Given the description of an element on the screen output the (x, y) to click on. 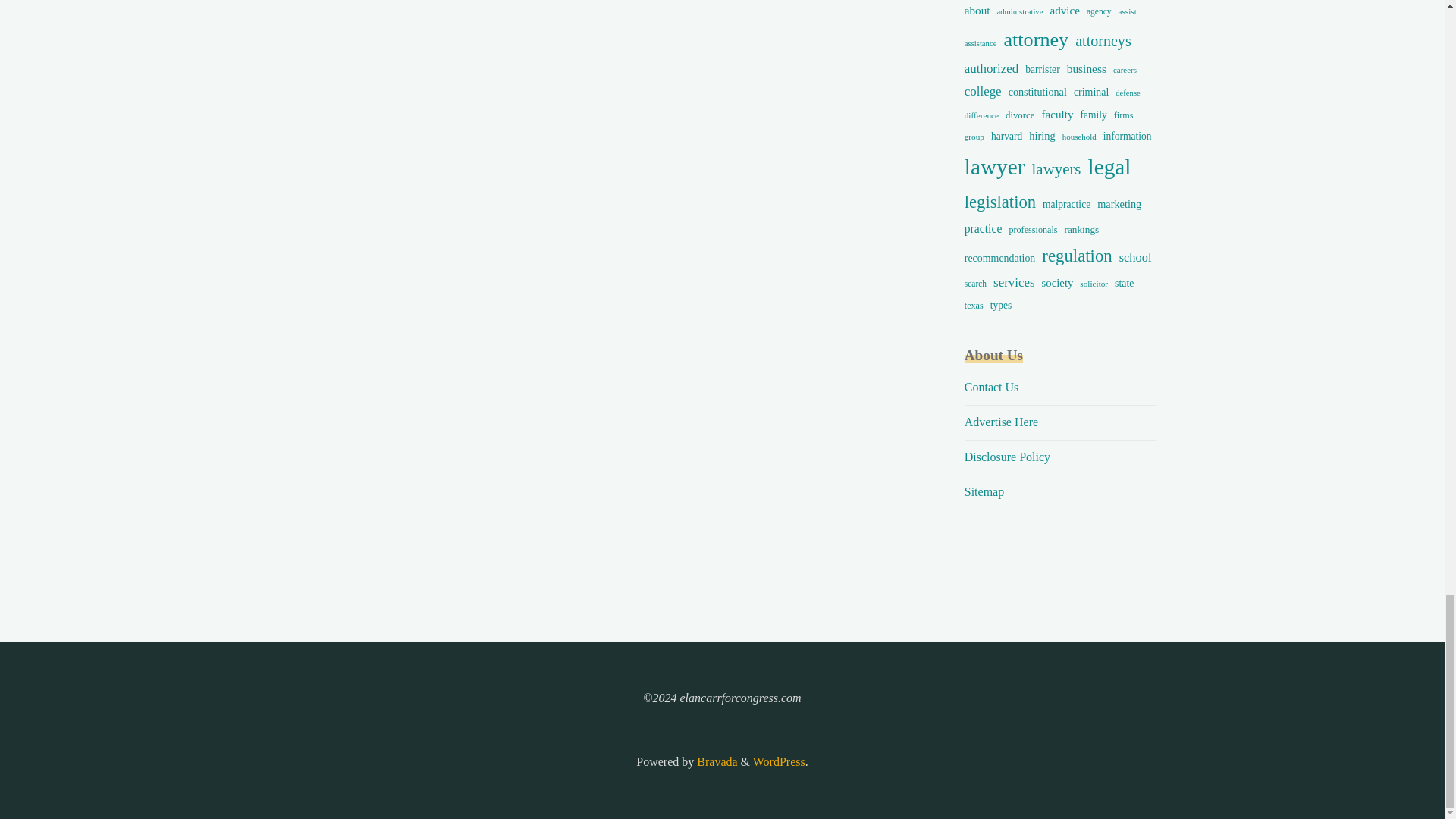
Semantic Personal Publishing Platform (778, 761)
Bravada WordPress Theme by Cryout Creations (715, 761)
